Given the description of an element on the screen output the (x, y) to click on. 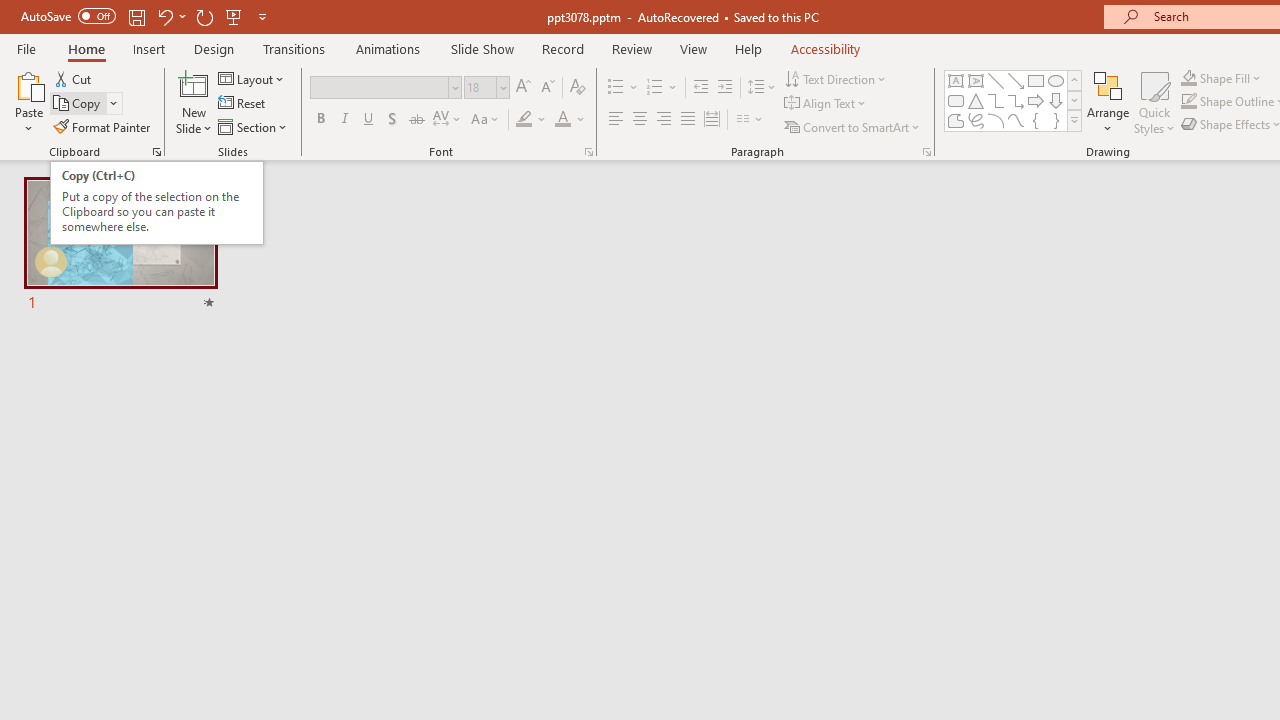
Class: NetUIImage (1075, 120)
Convert to SmartArt (853, 126)
Shapes (1074, 120)
Insert (149, 48)
Reset (243, 103)
Align Left (616, 119)
Right Brace (1055, 120)
New Slide (193, 102)
More Options (1232, 78)
Underline (369, 119)
Center (639, 119)
Copy (78, 103)
Line Spacing (762, 87)
